Given the description of an element on the screen output the (x, y) to click on. 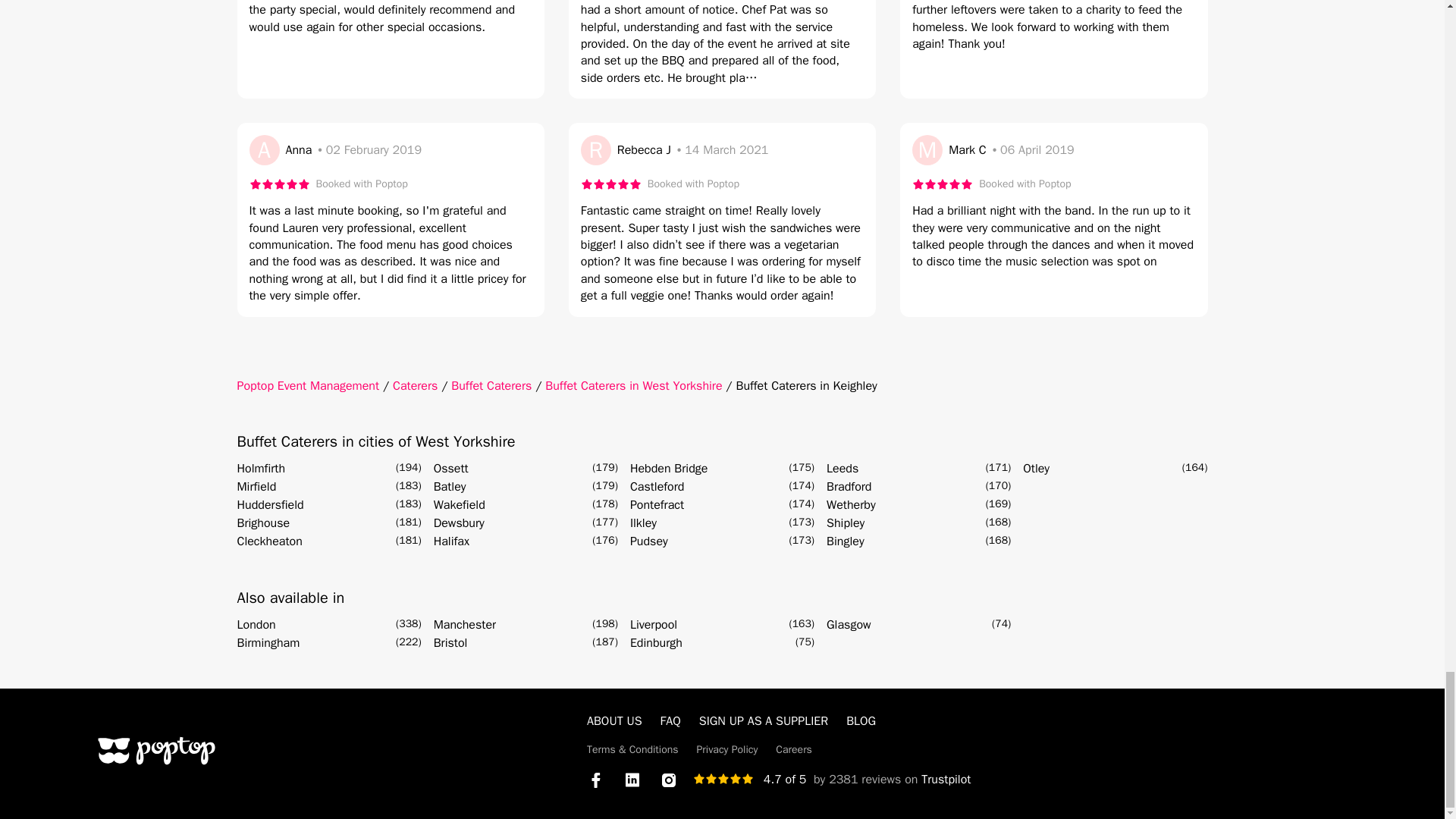
Buffet Caterers in West Yorkshire (633, 385)
Buffet Caterers (491, 385)
Halifax (450, 541)
Manchester (464, 624)
Otley (1036, 468)
Ilkley (643, 523)
Huddersfield (268, 505)
Caterers (415, 385)
Cleckheaton (268, 541)
Dewsbury (458, 523)
Shipley (845, 523)
Brighouse (262, 523)
Edinburgh (656, 642)
Bingley (845, 541)
Pudsey (649, 541)
